Given the description of an element on the screen output the (x, y) to click on. 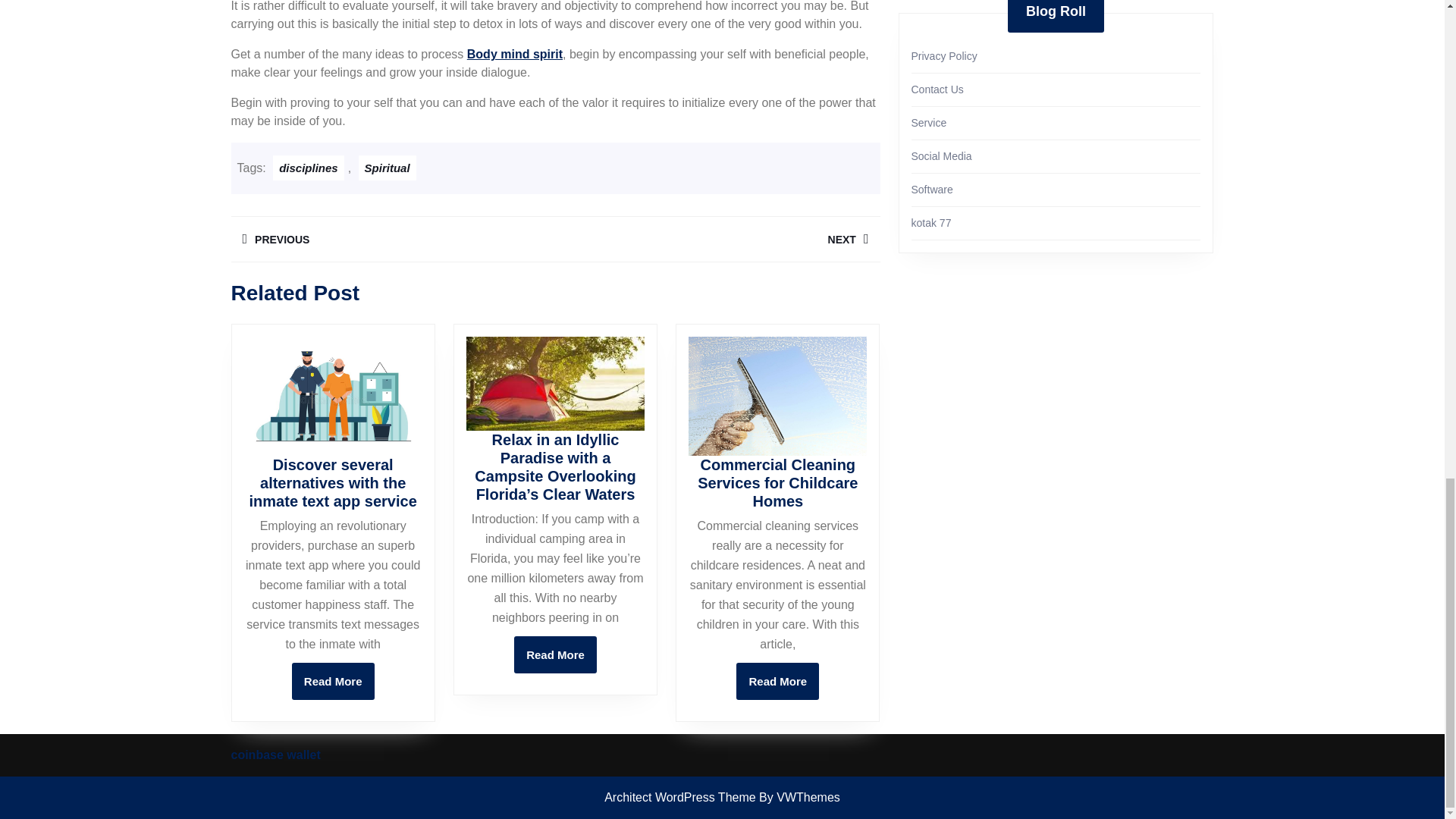
Body mind spirit (554, 654)
Spiritual (514, 53)
disciplines (716, 239)
